Given the description of an element on the screen output the (x, y) to click on. 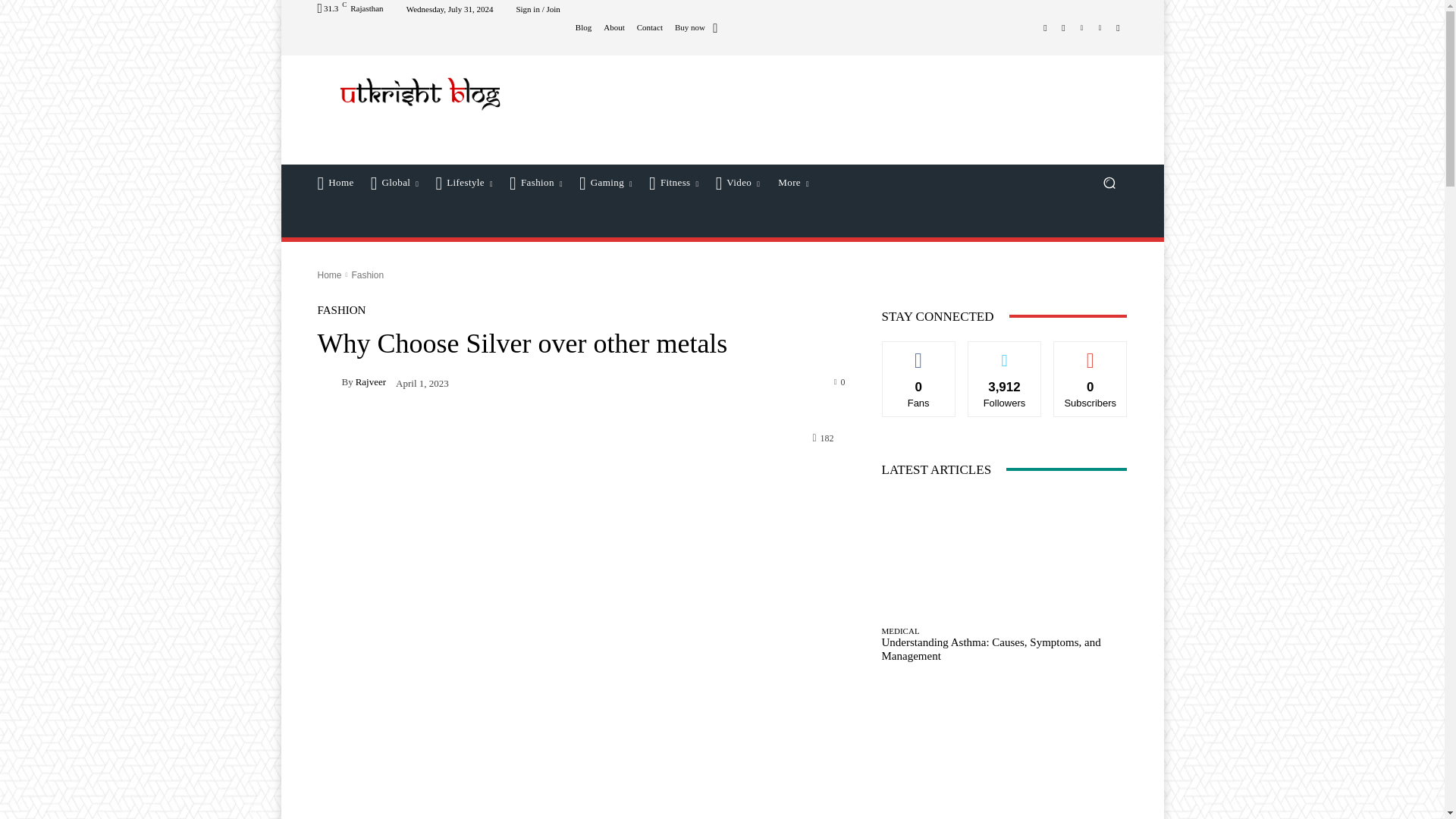
Youtube (1117, 27)
Blog (583, 27)
Instagram (1062, 27)
Facebook (1044, 27)
About (614, 27)
Contact (649, 27)
Vimeo (1099, 27)
Twitter (1080, 27)
Home (335, 182)
